Given the description of an element on the screen output the (x, y) to click on. 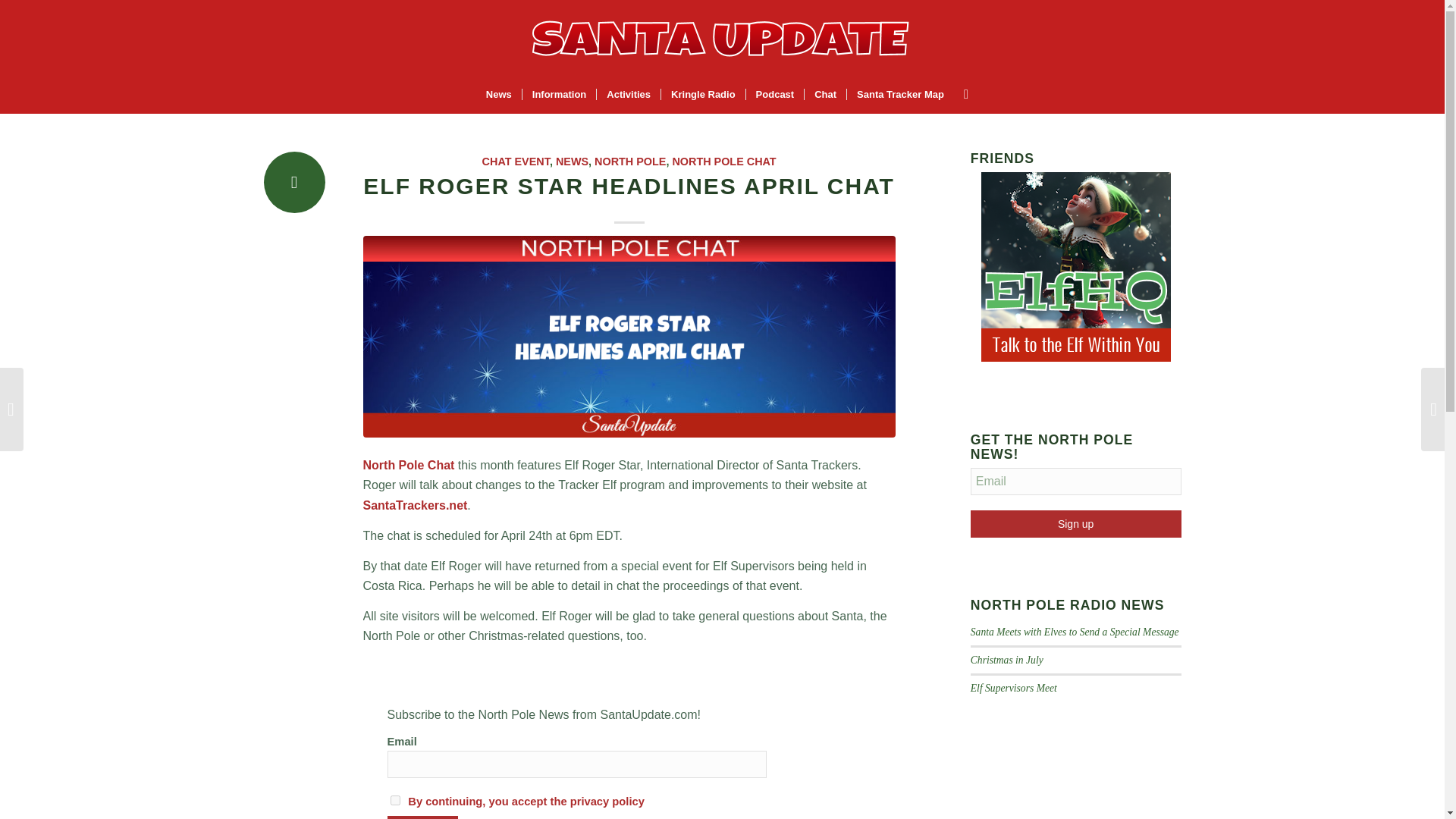
newlogo23f (722, 38)
Subscribe (422, 817)
News (498, 94)
Activities (628, 94)
on (394, 800)
NEWS (572, 161)
Podcast (775, 94)
Kringle Radio (703, 94)
Santa Tracker Map (899, 94)
Sign up (1075, 523)
